Given the description of an element on the screen output the (x, y) to click on. 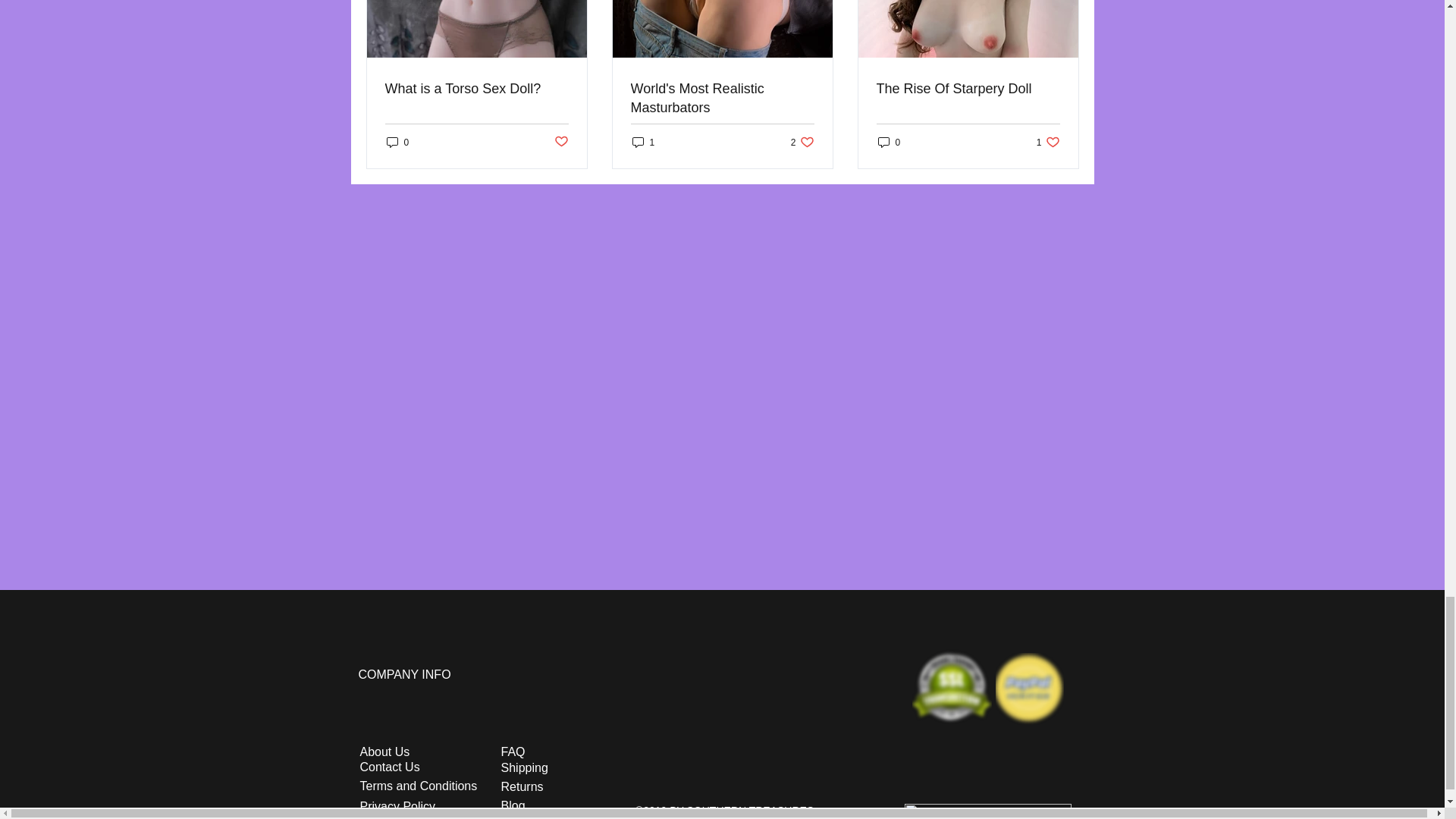
What is a Torso Sex Doll? (477, 88)
The Rise Of Starpery Doll (967, 88)
0 (889, 142)
1 (643, 142)
World's Most Realistic Masturbators (1047, 142)
0 (721, 98)
Post not marked as liked (801, 142)
